Given the description of an element on the screen output the (x, y) to click on. 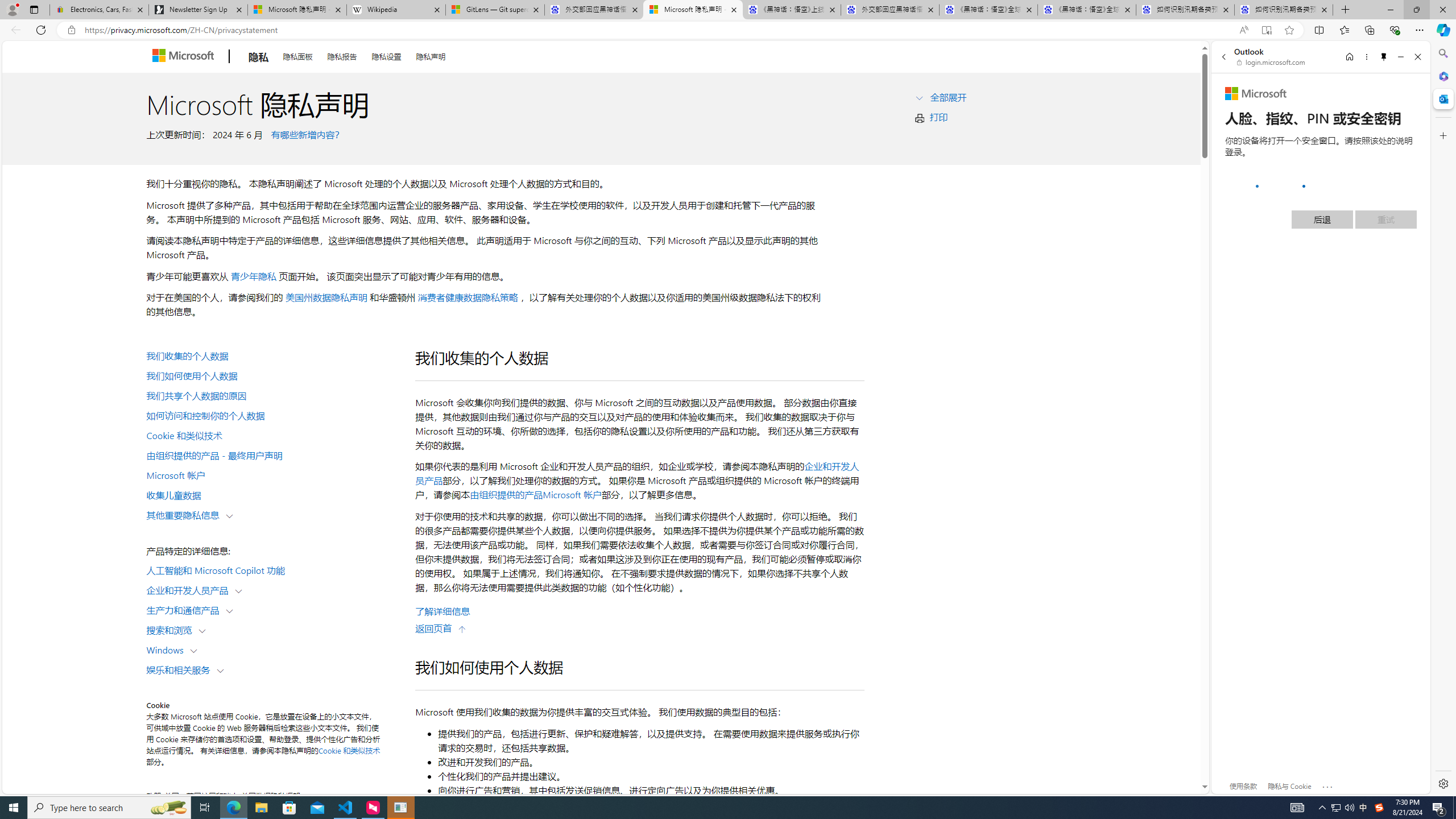
Unpin side pane (1383, 56)
